Given the description of an element on the screen output the (x, y) to click on. 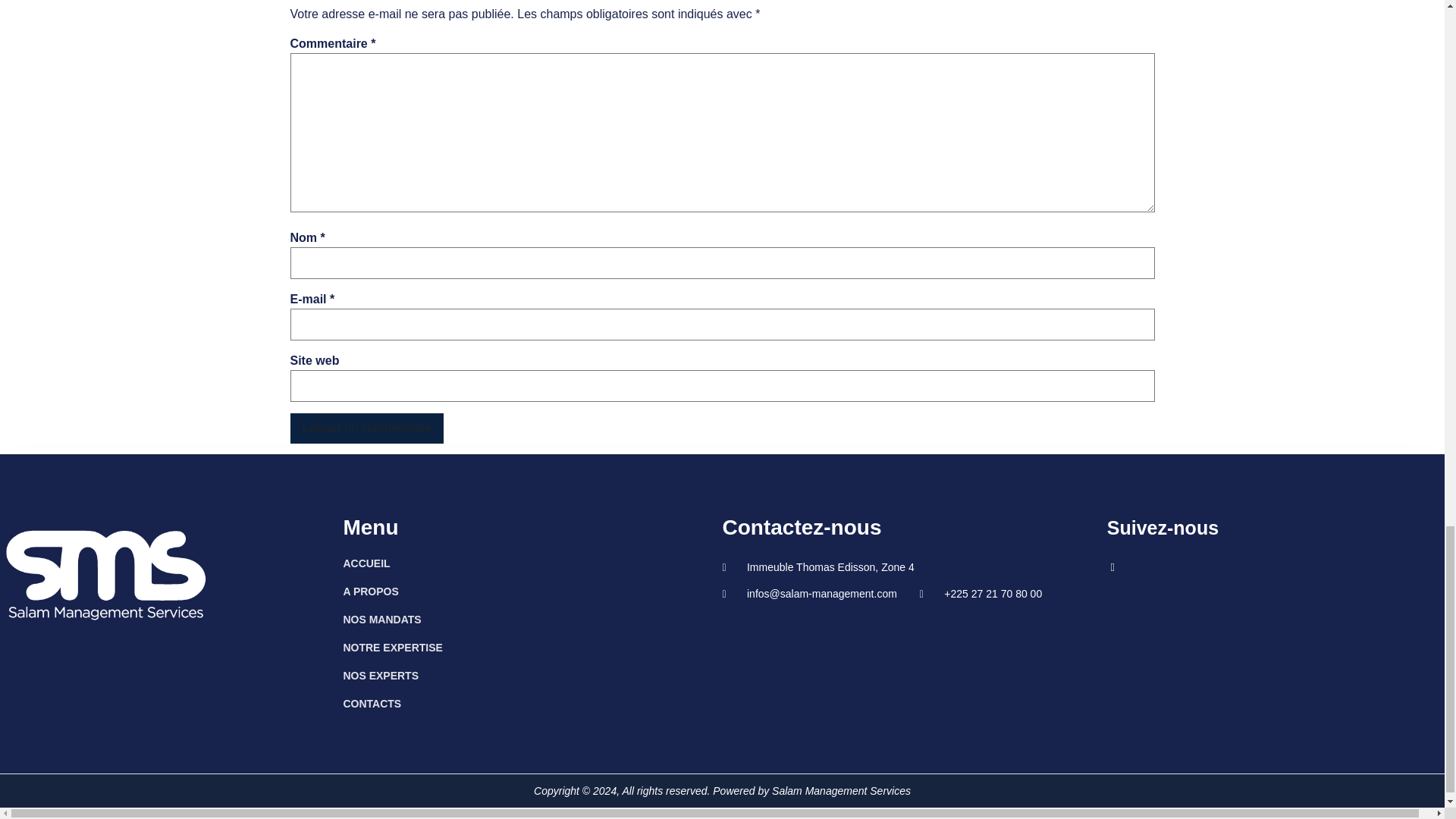
Laisser un commentaire (366, 428)
A PROPOS (532, 591)
NOS MANDATS (532, 619)
ACCUEIL (532, 563)
CONTACTS (532, 703)
NOS EXPERTS (532, 675)
NOTRE EXPERTISE (532, 647)
Laisser un commentaire (366, 428)
